Given the description of an element on the screen output the (x, y) to click on. 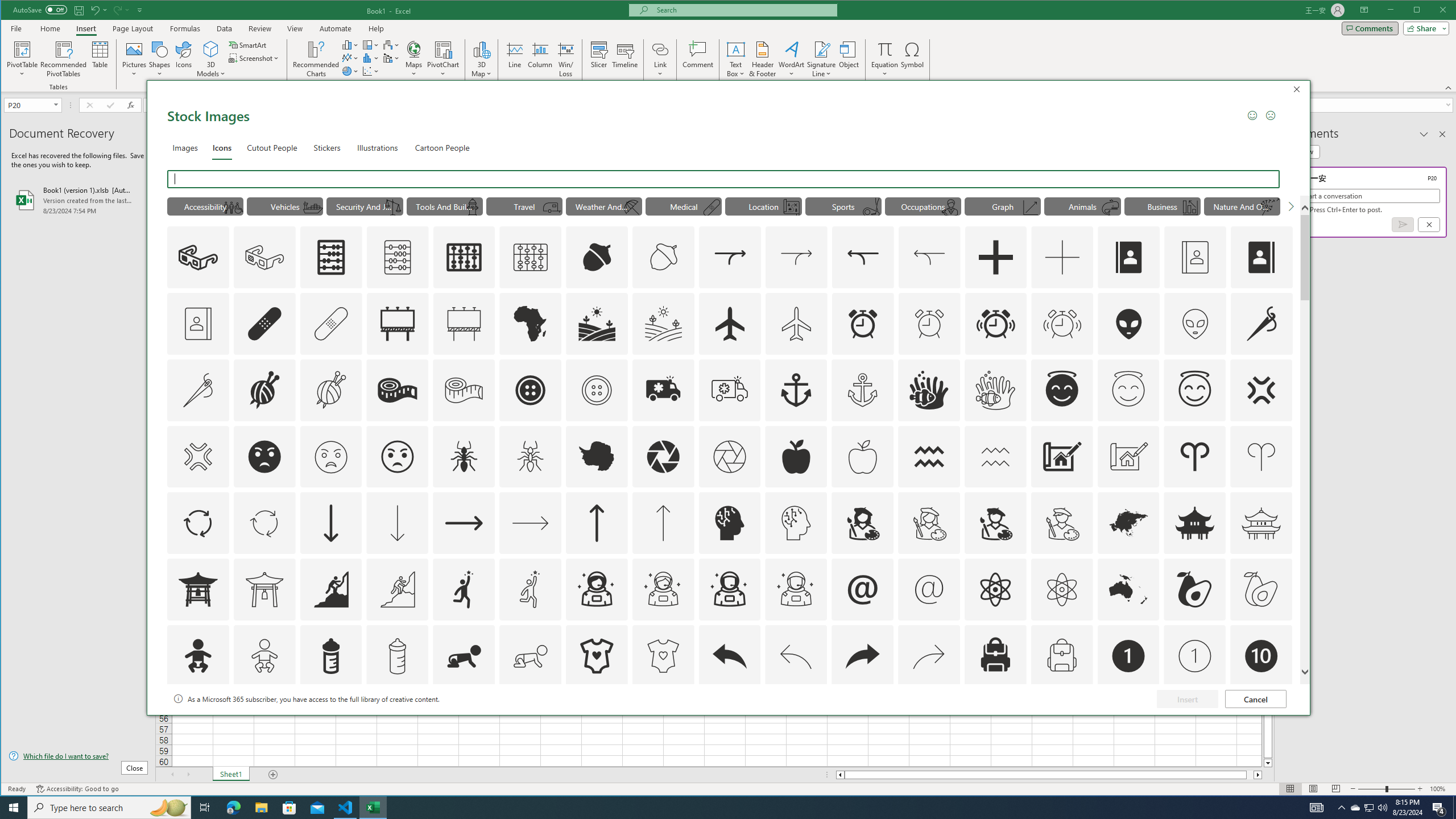
3D Models (211, 59)
Recommended PivotTables (63, 59)
AutomationID: Icons_AlterationsTailoring2 (397, 389)
Cancel (1255, 698)
AutomationID: Icons_Abacus (330, 256)
"Weather And Seasons" Icons. (604, 206)
Stickers (327, 147)
File Explorer (261, 807)
